Given the description of an element on the screen output the (x, y) to click on. 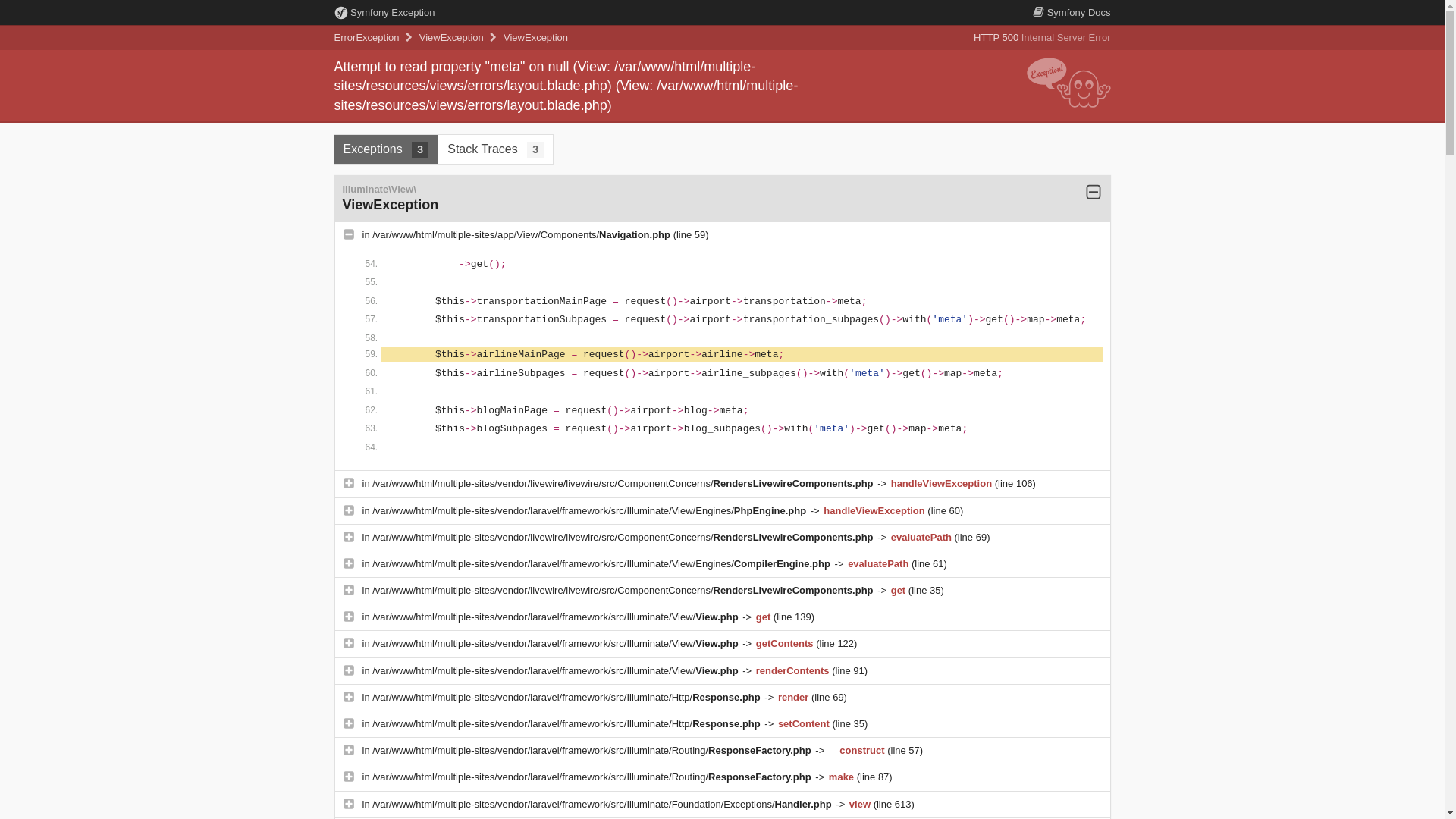
ViewException (535, 37)
ErrorException (365, 37)
ViewException (451, 37)
ErrorException (365, 37)
Symfony Docs (1070, 12)
